Given the description of an element on the screen output the (x, y) to click on. 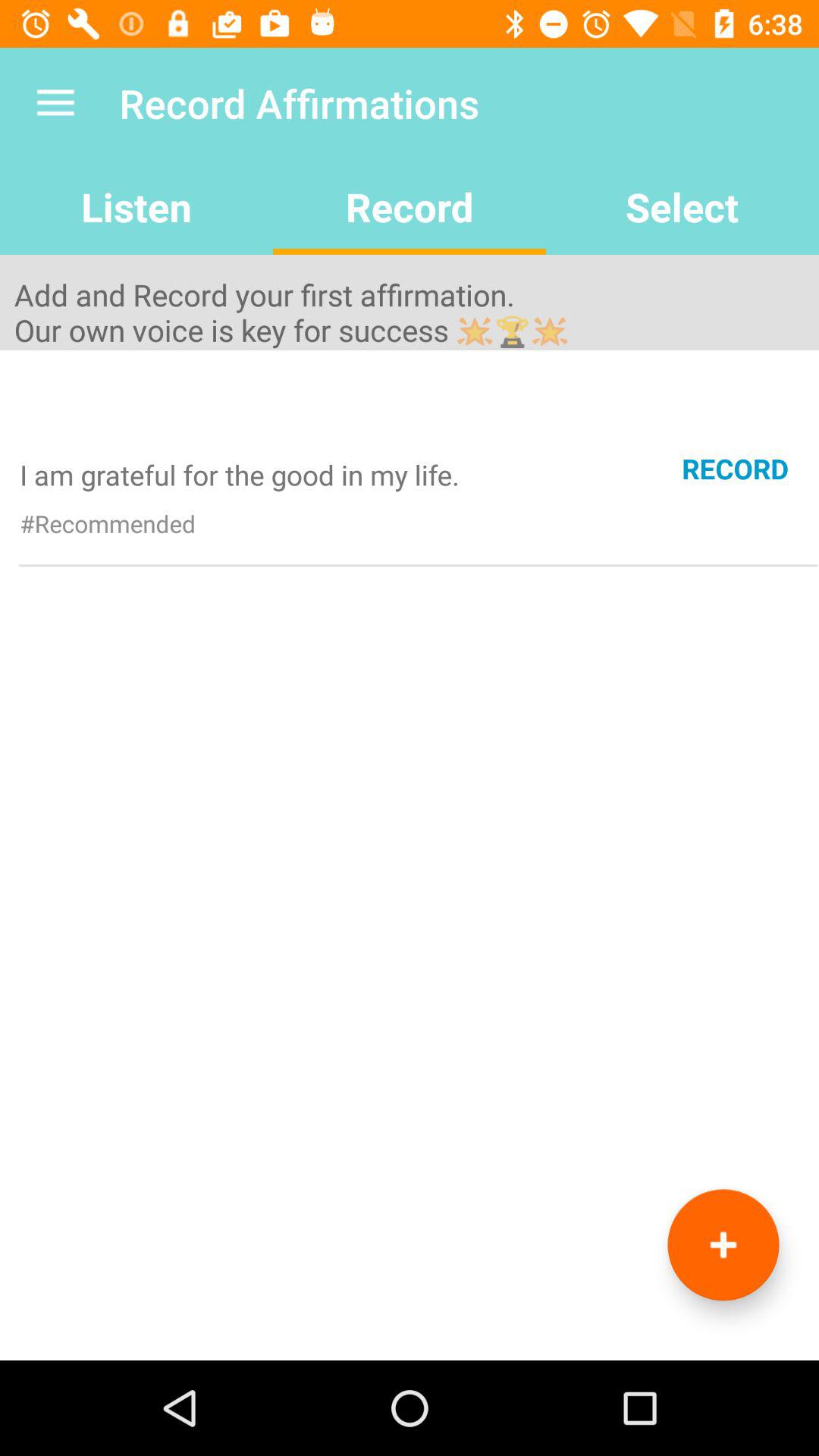
launch icon below the record icon (723, 1244)
